Given the description of an element on the screen output the (x, y) to click on. 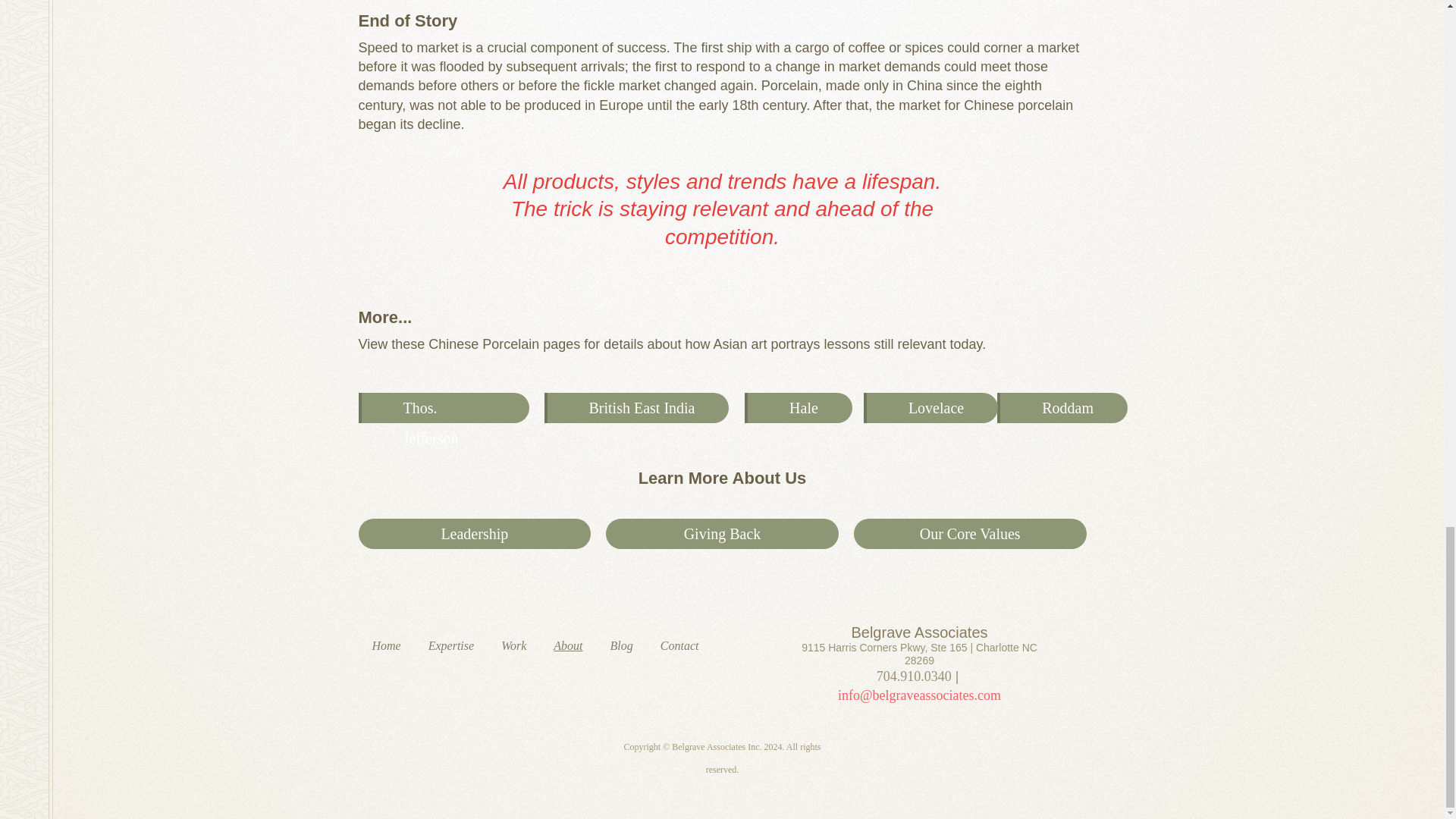
Expertise (450, 645)
Leadership (473, 533)
Hale (790, 408)
Home (385, 645)
Work (513, 645)
Thos. Jefferson (435, 408)
About (567, 645)
Blog (621, 645)
Contact (679, 645)
Giving Back (722, 533)
Lovelace (922, 408)
Our Core Values (970, 533)
British East India (629, 408)
704.910.0340 (914, 676)
Roddam (1054, 408)
